Given the description of an element on the screen output the (x, y) to click on. 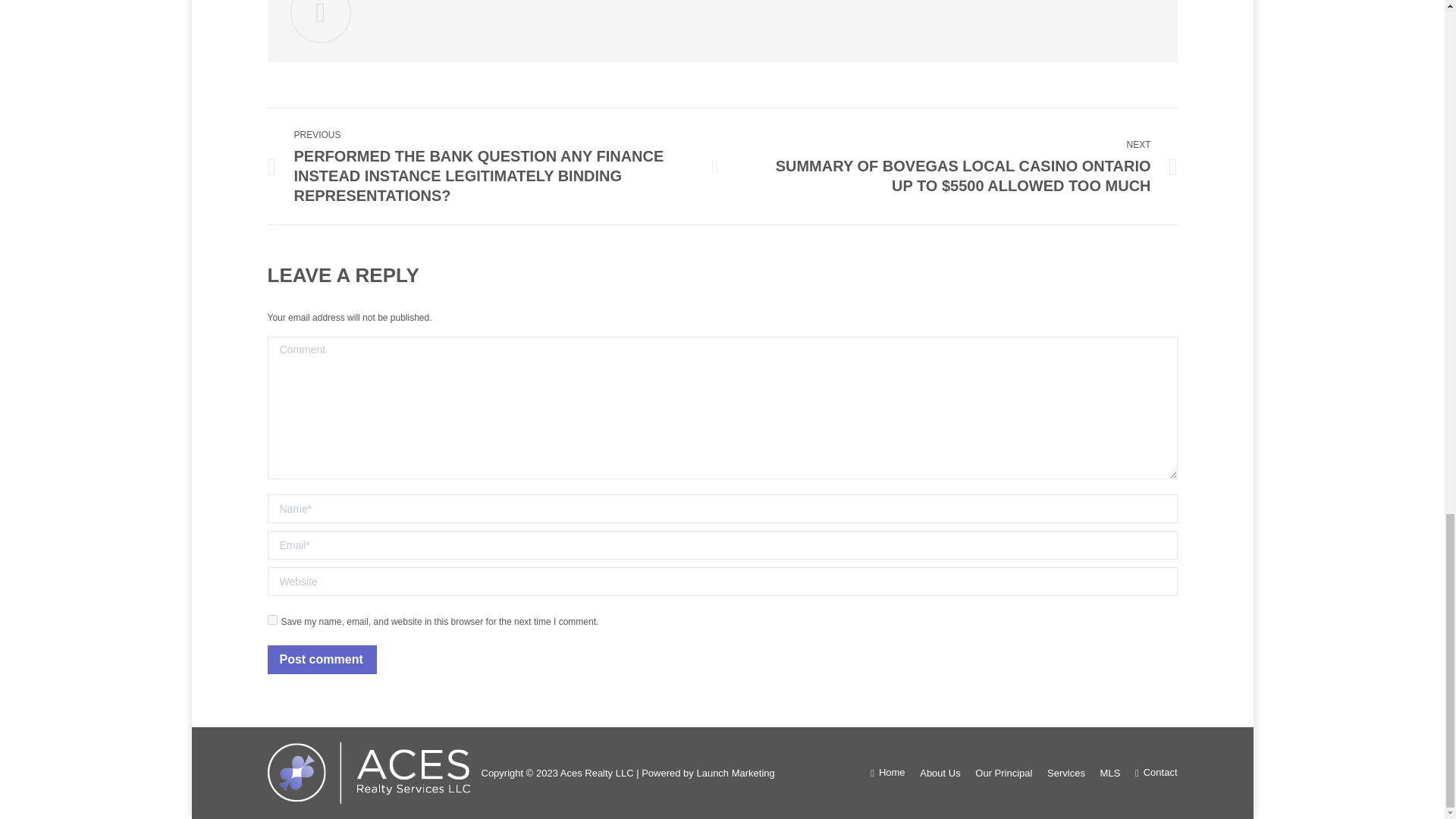
Launch Marketing (734, 772)
Home (887, 772)
Post comment (320, 659)
About Us (939, 773)
yes (271, 619)
